Given the description of an element on the screen output the (x, y) to click on. 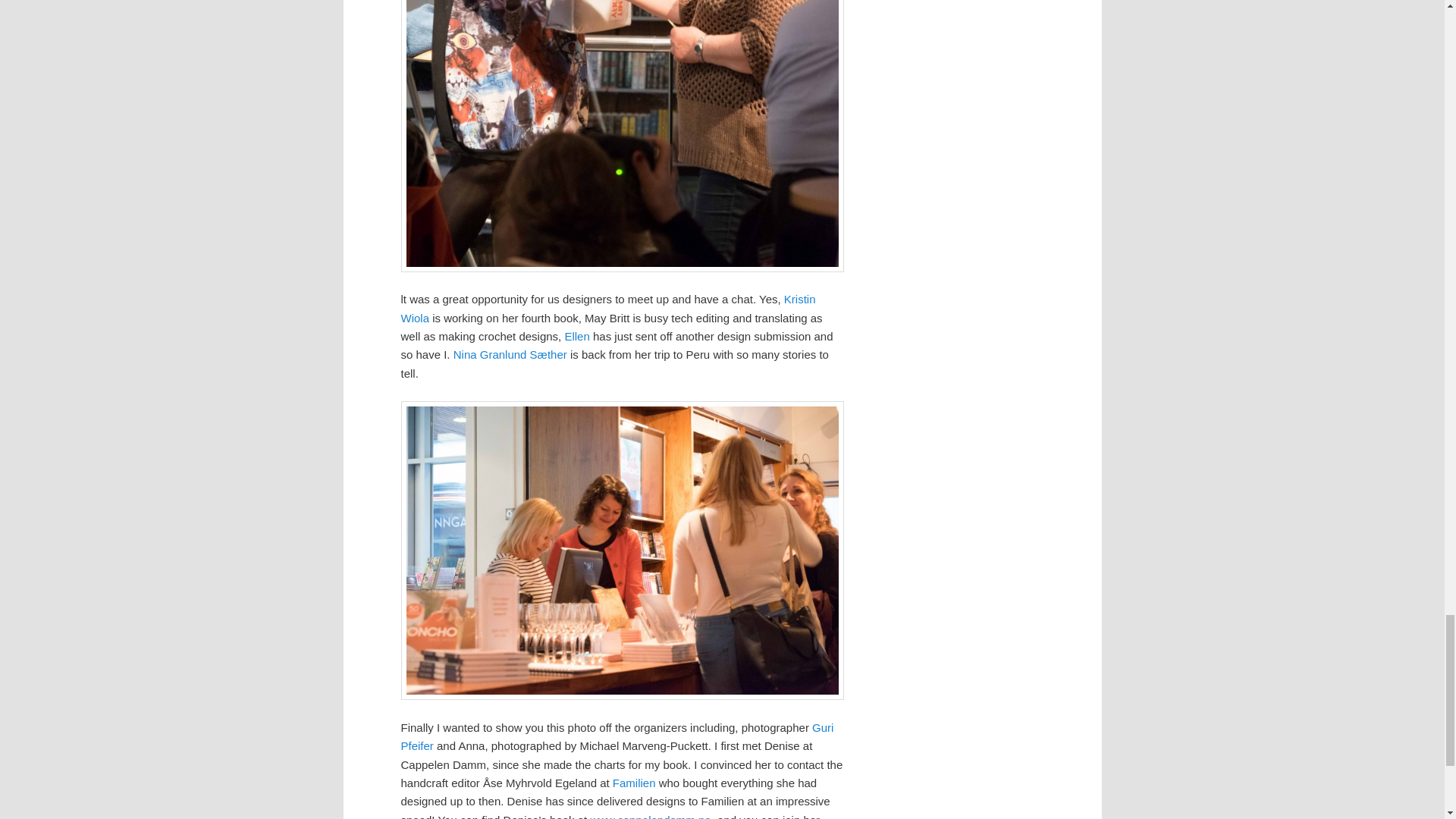
www.cappelendamm.no (649, 816)
Ellen (576, 336)
Guri Pfeifer (616, 736)
Familien (634, 782)
Kristin Wiola (607, 307)
